Given the description of an element on the screen output the (x, y) to click on. 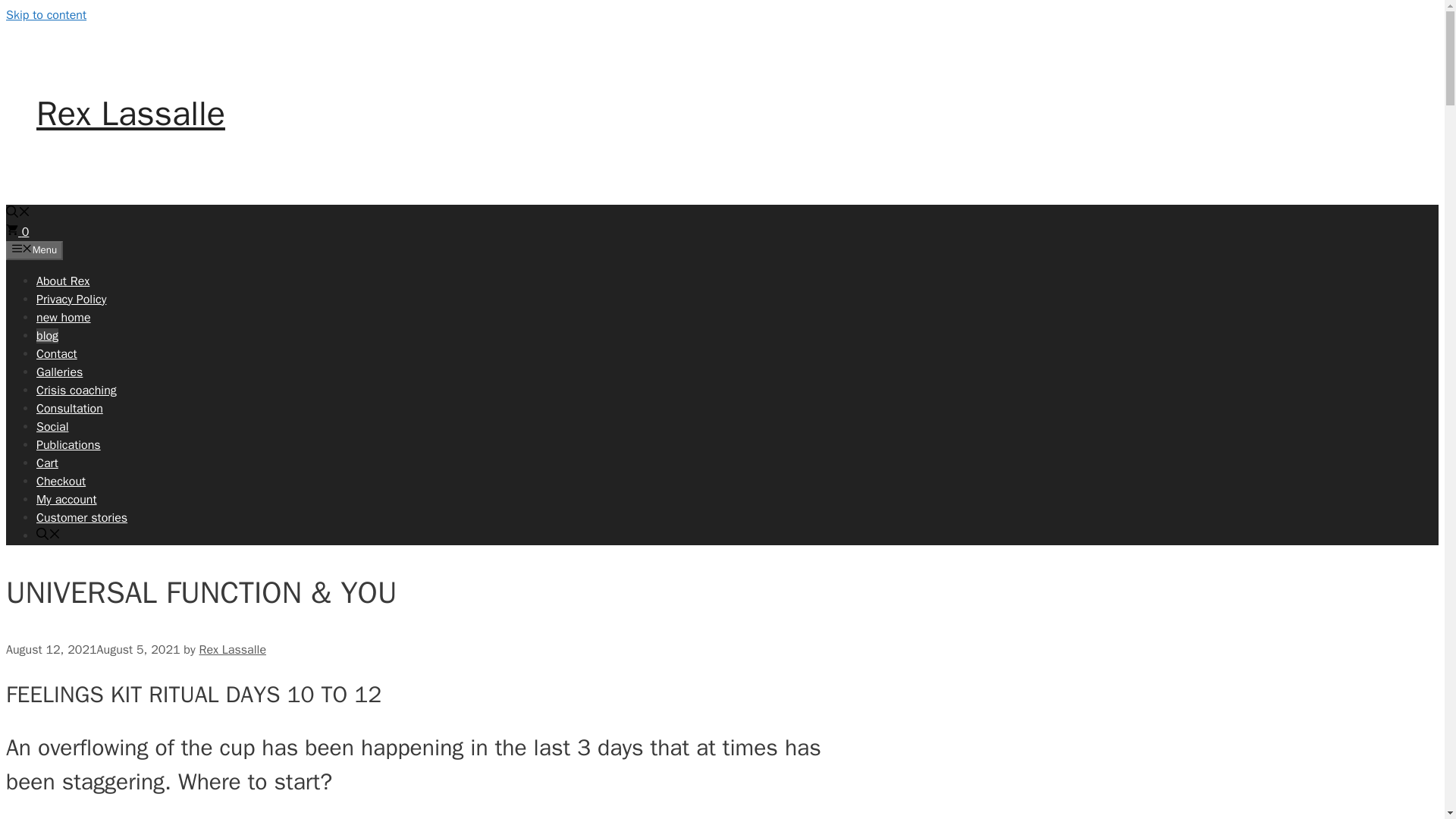
Crisis coaching (76, 389)
Galleries (59, 371)
Social (52, 426)
Consultation (69, 407)
Skip to content (45, 14)
Rex Lassalle (130, 113)
Menu (33, 249)
0 (17, 231)
Cart (47, 462)
Contact (56, 353)
Skip to content (45, 14)
My account (66, 498)
Customer stories (82, 516)
Privacy Policy (71, 298)
Rex Lassalle (232, 649)
